Given the description of an element on the screen output the (x, y) to click on. 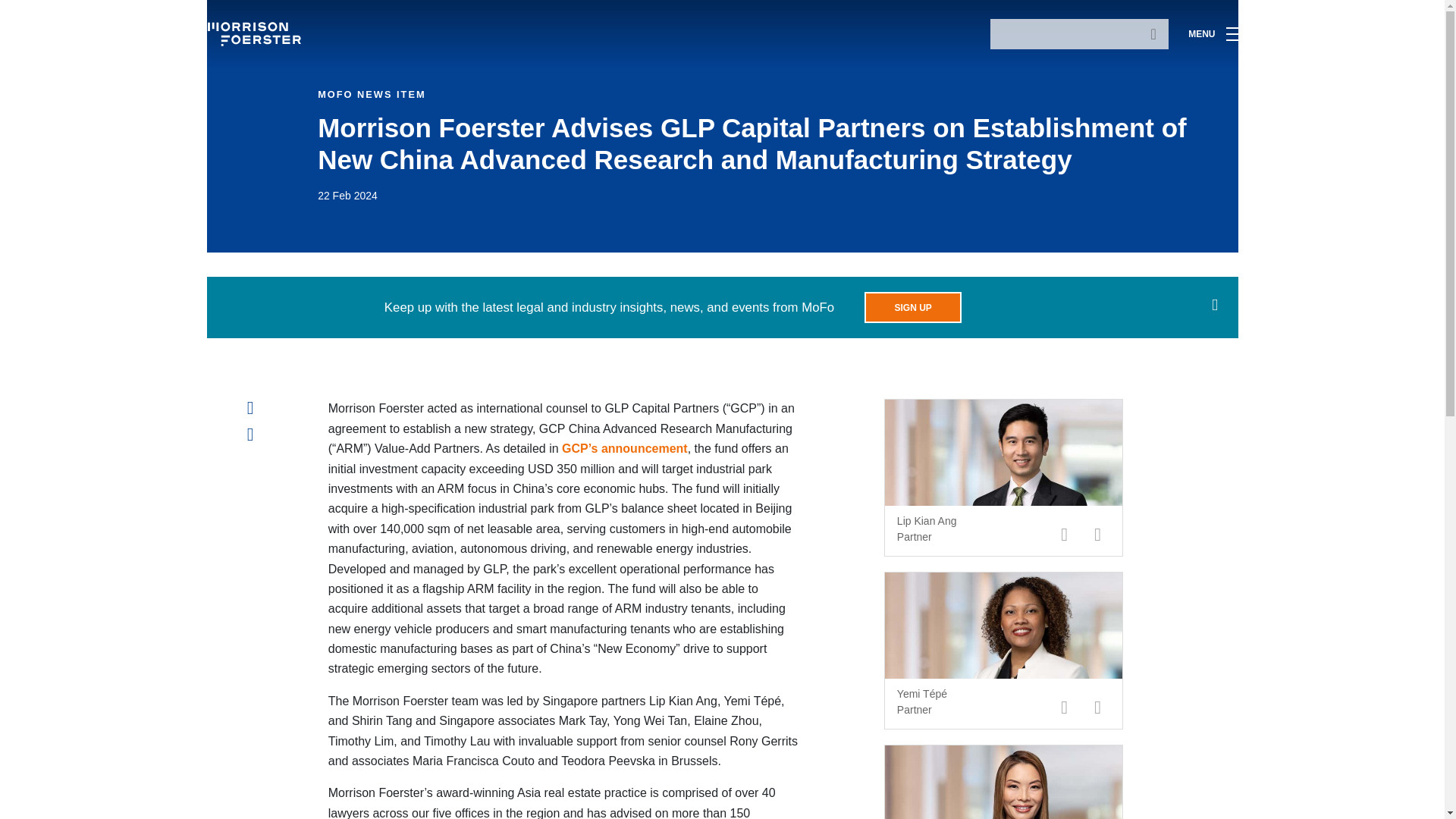
MENU (1212, 33)
SIGN UP (912, 306)
call Lip Kian Ang (1097, 534)
email Lip Kian Ang (1064, 534)
